Given the description of an element on the screen output the (x, y) to click on. 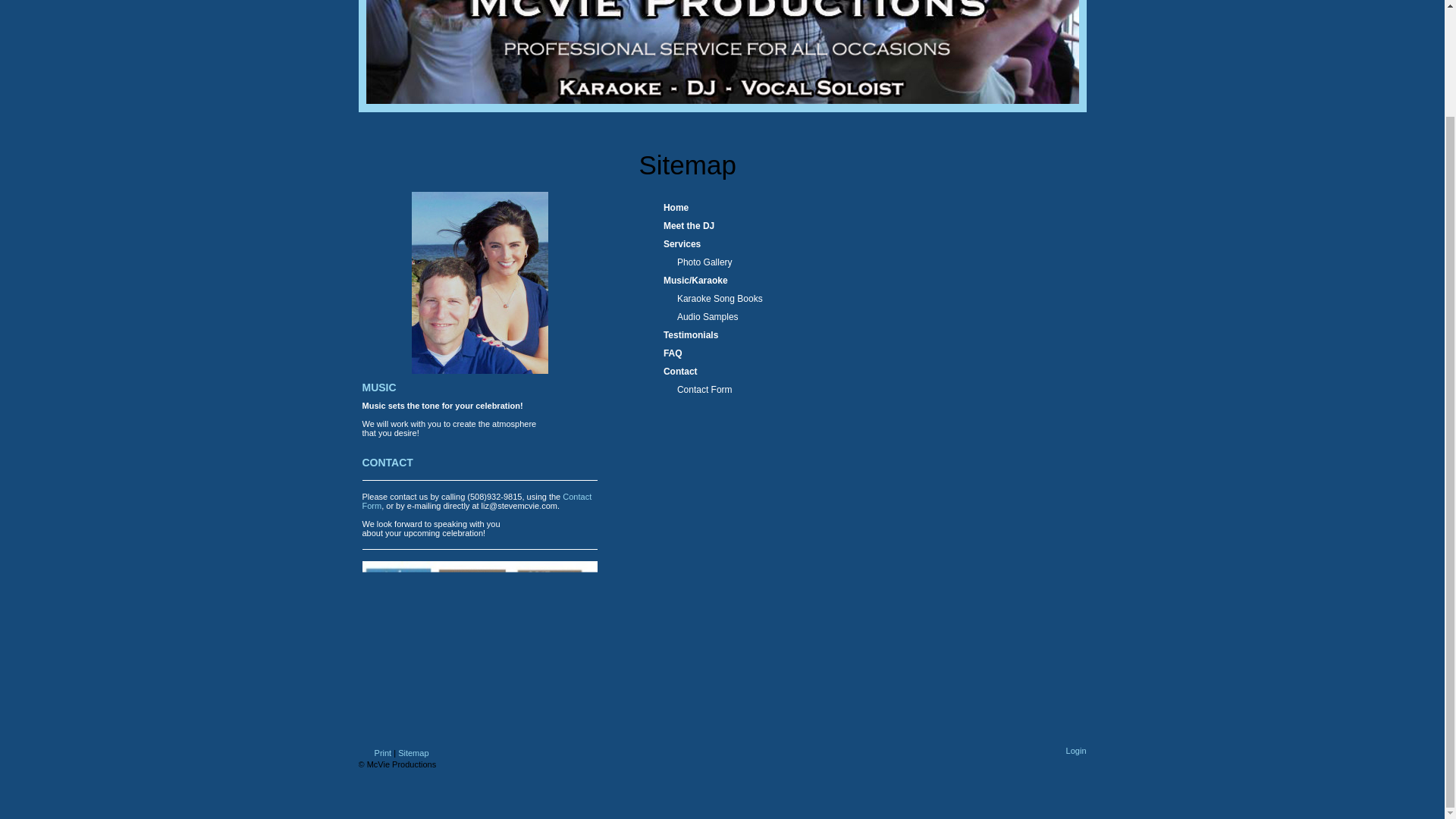
Print (375, 752)
Karaoke Song Books (856, 298)
Meet the DJ (850, 226)
Contact (850, 371)
Sitemap (412, 752)
Login (1075, 750)
Audio Samples (856, 316)
Services (850, 244)
Home (850, 208)
Contact Form (856, 389)
